Given the description of an element on the screen output the (x, y) to click on. 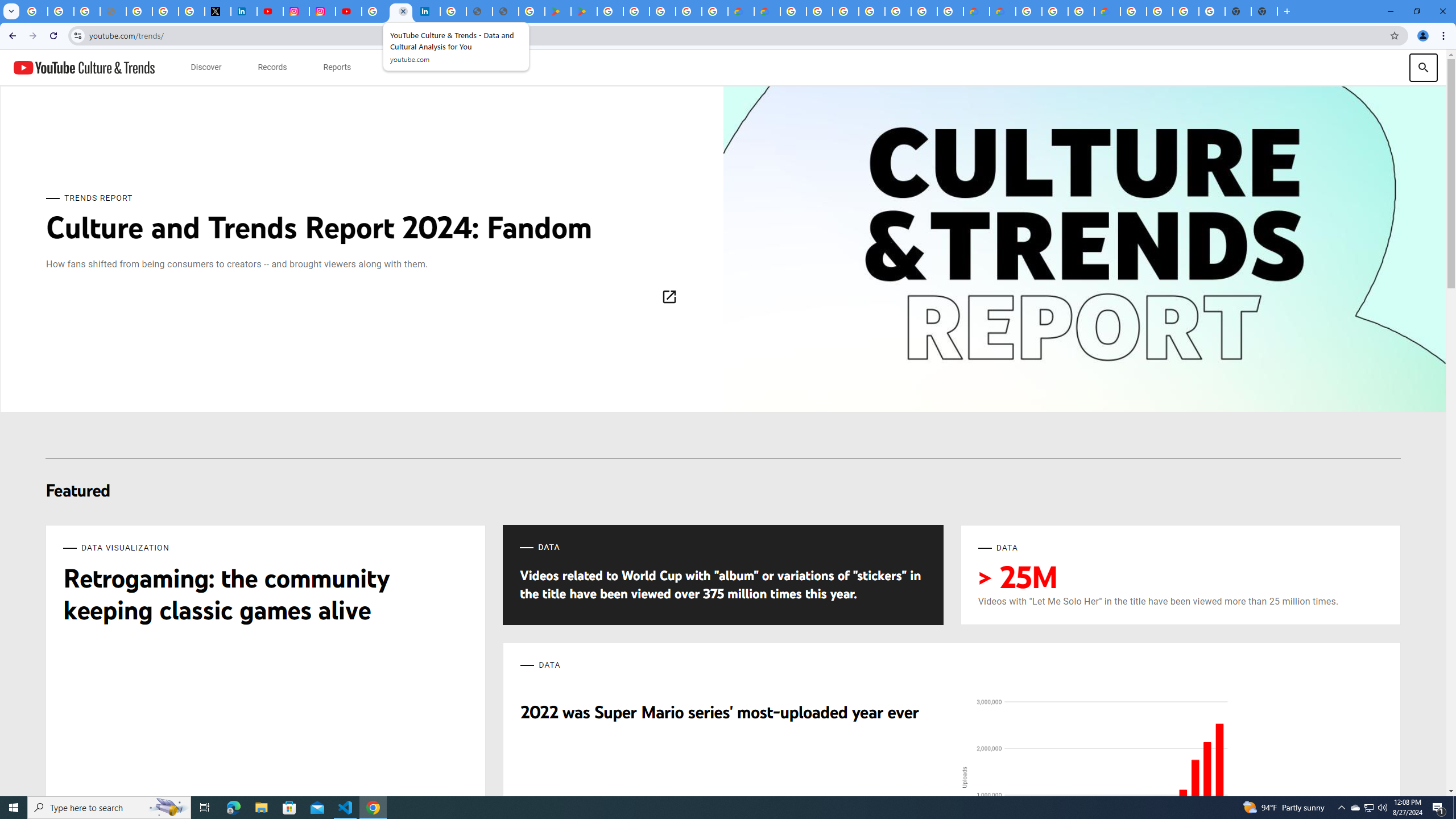
Customer Care | Google Cloud (976, 11)
Sign in - Google Accounts (374, 11)
subnav-More menupopup (401, 67)
Google Cloud Platform (1028, 11)
PAW Patrol Rescue World - Apps on Google Play (584, 11)
Google Cloud Platform (792, 11)
support.google.com - Network error (112, 11)
subnav-Records menupopup (271, 67)
Sign in - Google Accounts (845, 11)
